Given the description of an element on the screen output the (x, y) to click on. 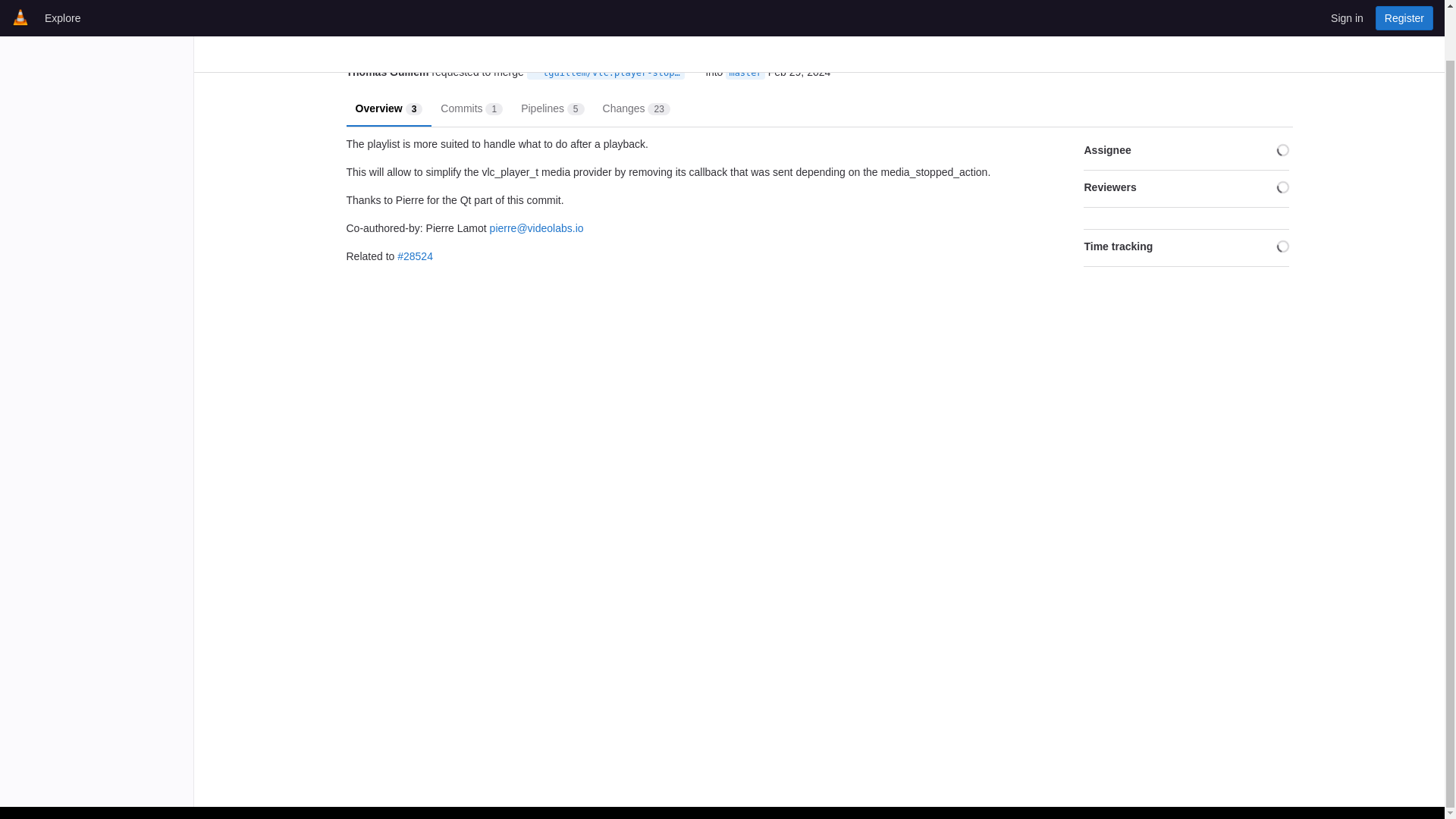
Feb 29, 2024 12:37pm (799, 72)
Thomas Guillem (387, 72)
master (744, 72)
The source project is a fork (471, 108)
Code (534, 72)
master (636, 108)
